Given the description of an element on the screen output the (x, y) to click on. 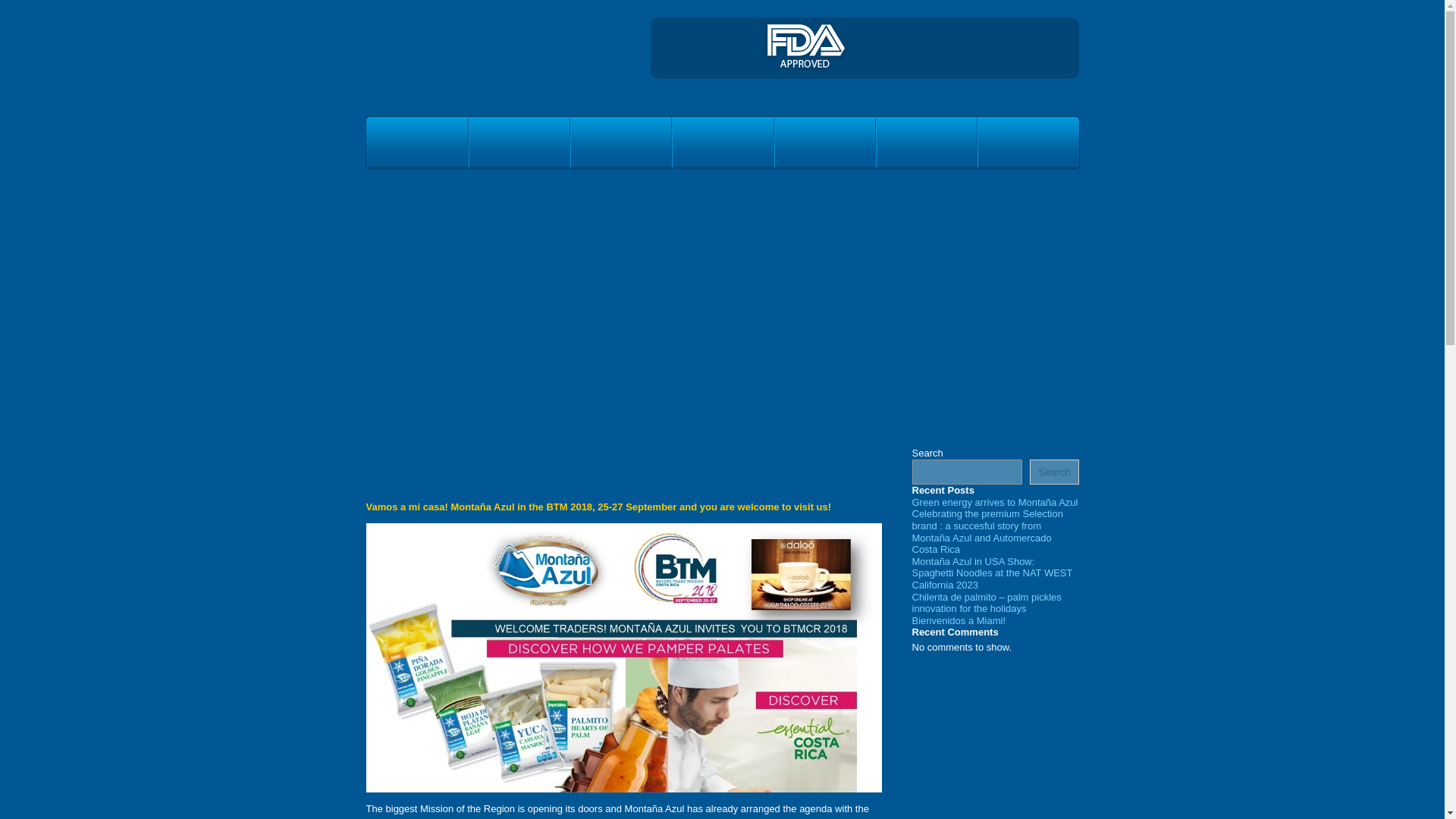
Search (1053, 472)
Montana Azul (449, 63)
Bienvenidos a Miami! (958, 620)
